Given the description of an element on the screen output the (x, y) to click on. 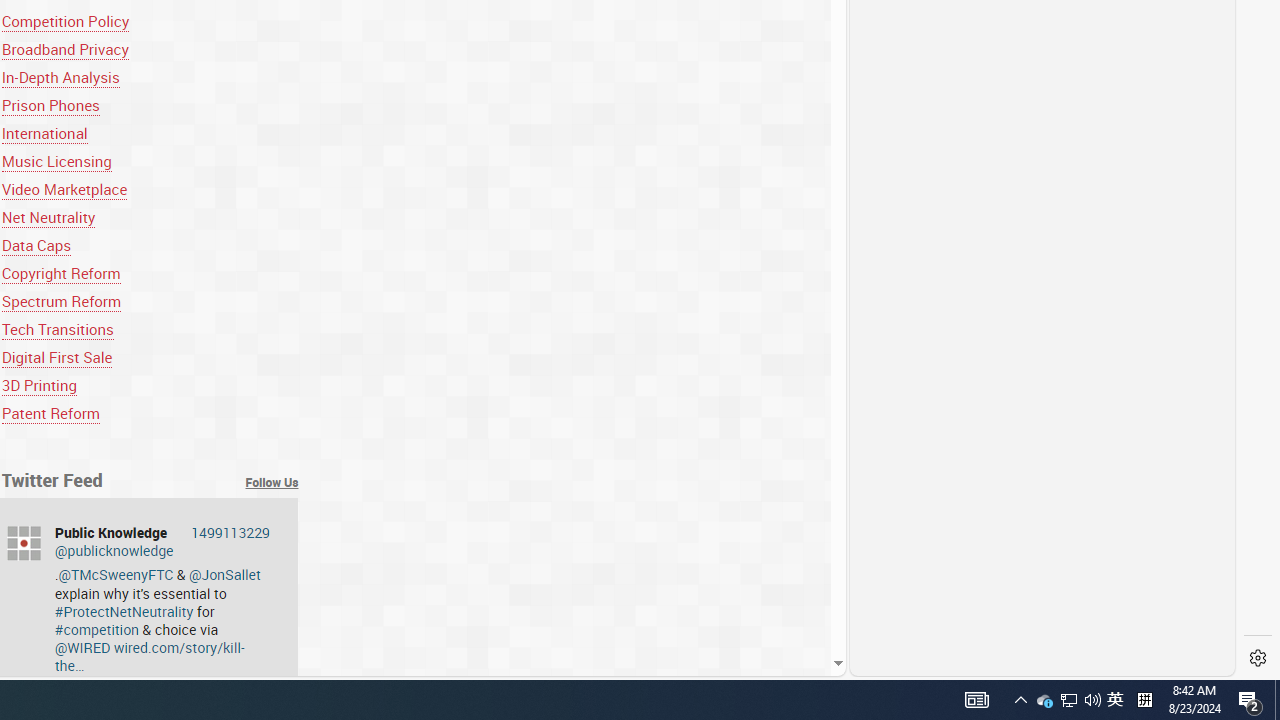
Competition Policy (150, 20)
Digital First Sale (56, 357)
Net Neutrality (48, 217)
Tech Transitions (57, 328)
Digital First Sale (150, 357)
publicknowledge (24, 543)
Broadband Privacy (65, 48)
Music Licensing (150, 161)
Competition Policy (65, 20)
Patent Reform (150, 413)
publicknowledge (24, 543)
Spectrum Reform (150, 300)
3D Printing (150, 385)
Tech Transitions (150, 328)
In-Depth Analysis (60, 76)
